Given the description of an element on the screen output the (x, y) to click on. 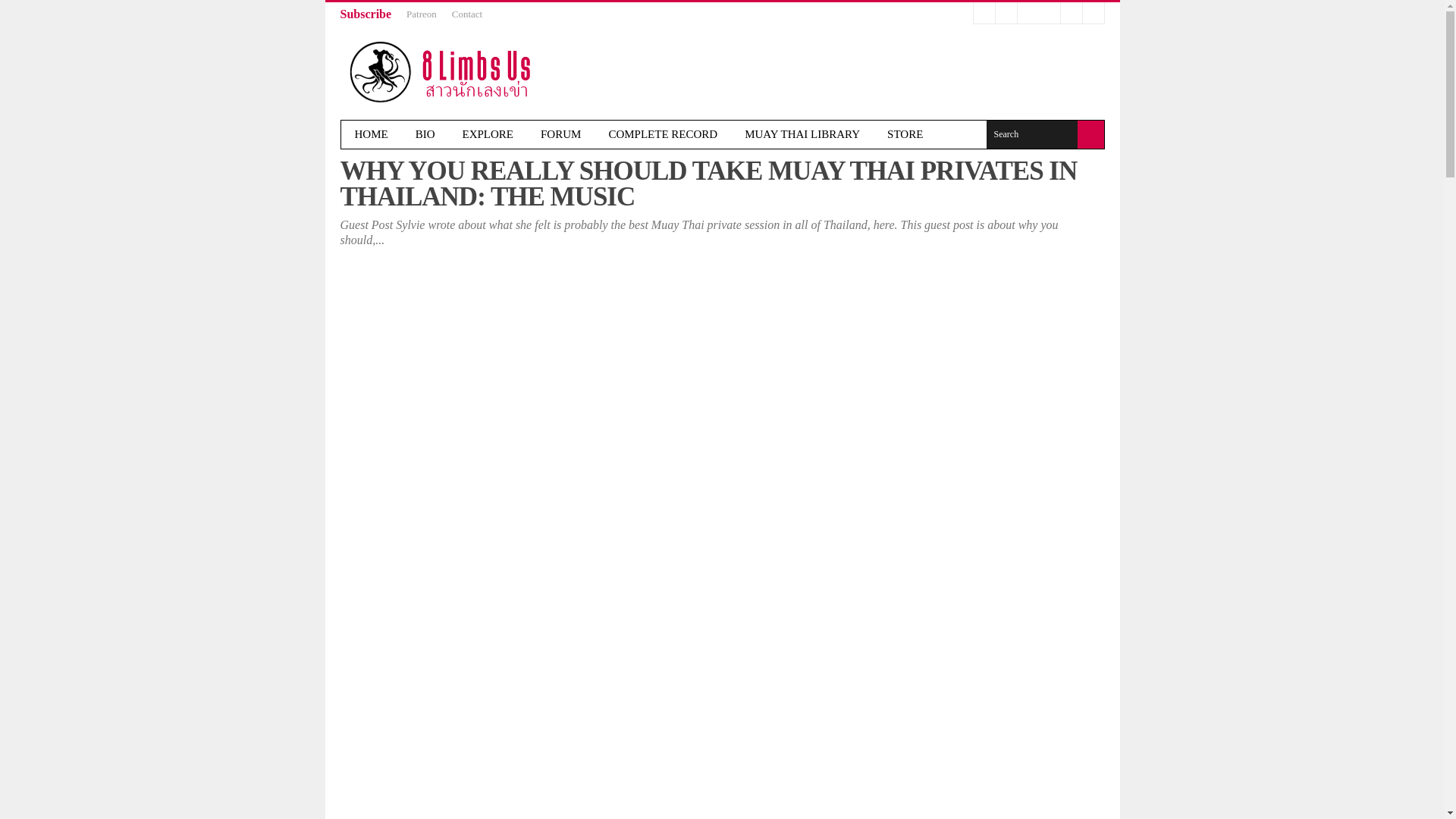
BIO (424, 134)
FORUM (560, 134)
MUAY THAI LIBRARY (801, 134)
Patreon (421, 13)
Subscribe (365, 13)
Contact (466, 13)
COMPLETE RECORD (662, 134)
STORE (904, 134)
HOME (370, 134)
EXPLORE (487, 134)
Search (1031, 134)
Explore (487, 134)
